Given the description of an element on the screen output the (x, y) to click on. 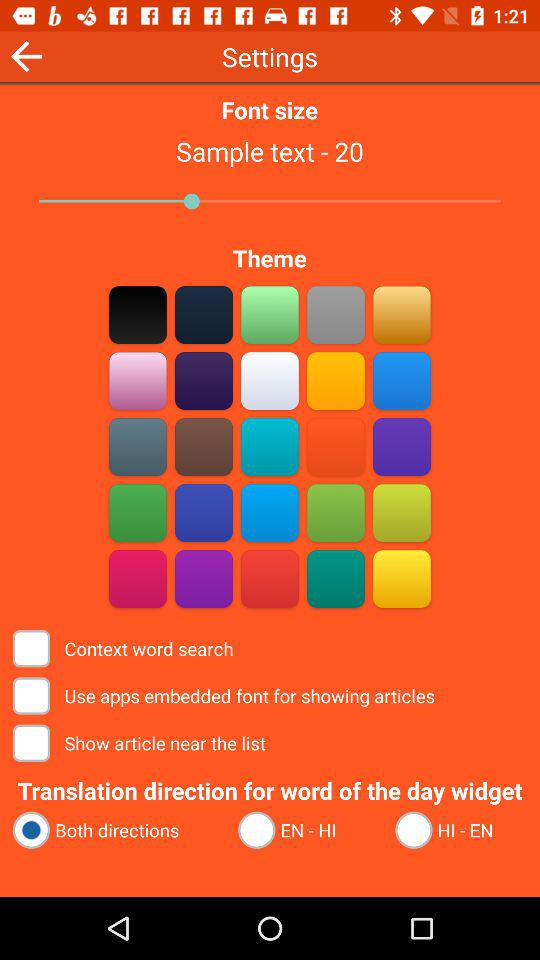
go to word search (401, 446)
